Given the description of an element on the screen output the (x, y) to click on. 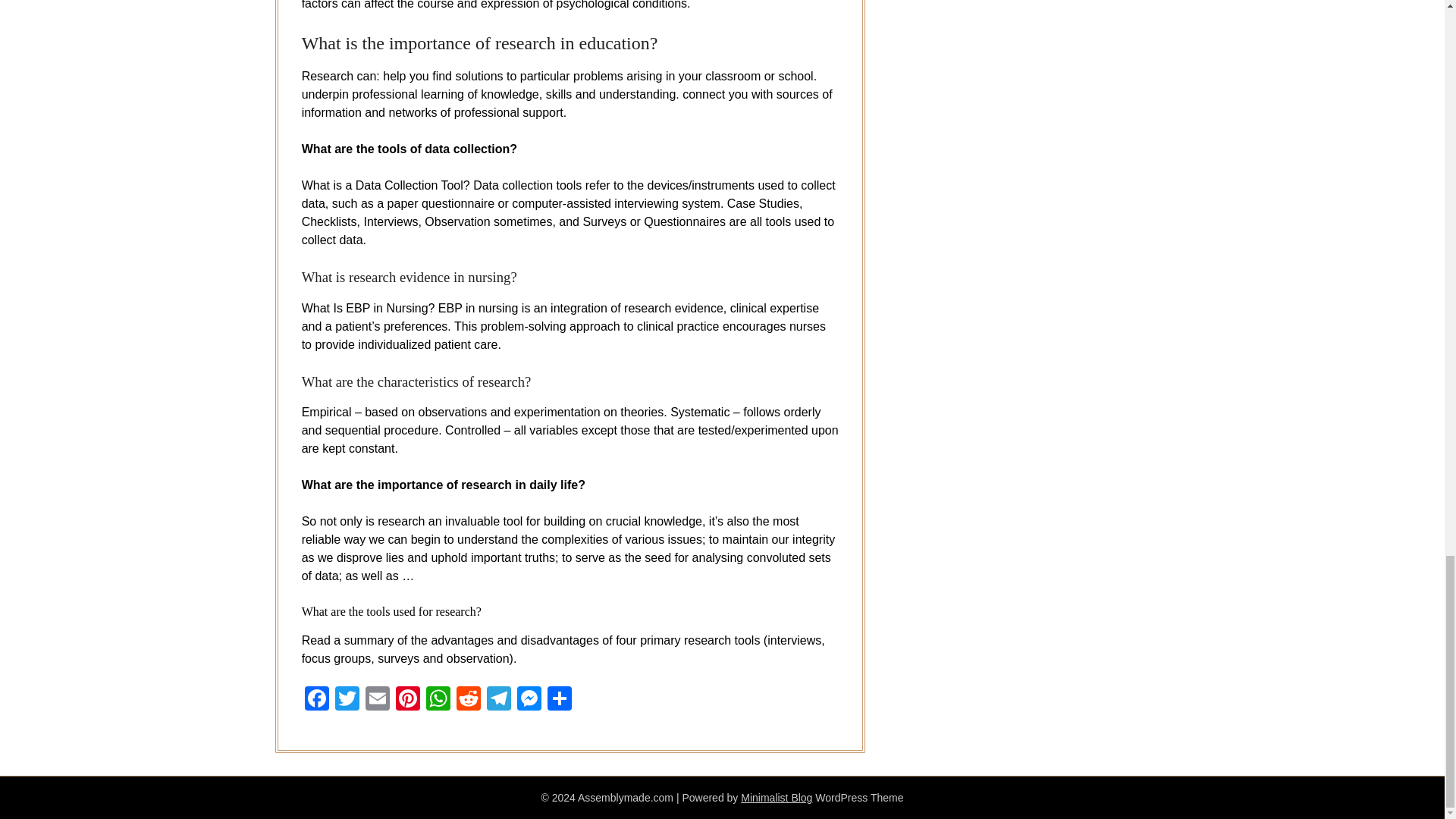
Pinterest (408, 700)
Telegram (498, 700)
Email (377, 700)
Twitter (346, 700)
Messenger (528, 700)
Email (377, 700)
Telegram (498, 700)
WhatsApp (437, 700)
Facebook (316, 700)
Facebook (316, 700)
Twitter (346, 700)
WhatsApp (437, 700)
Messenger (528, 700)
Reddit (467, 700)
Pinterest (408, 700)
